Given the description of an element on the screen output the (x, y) to click on. 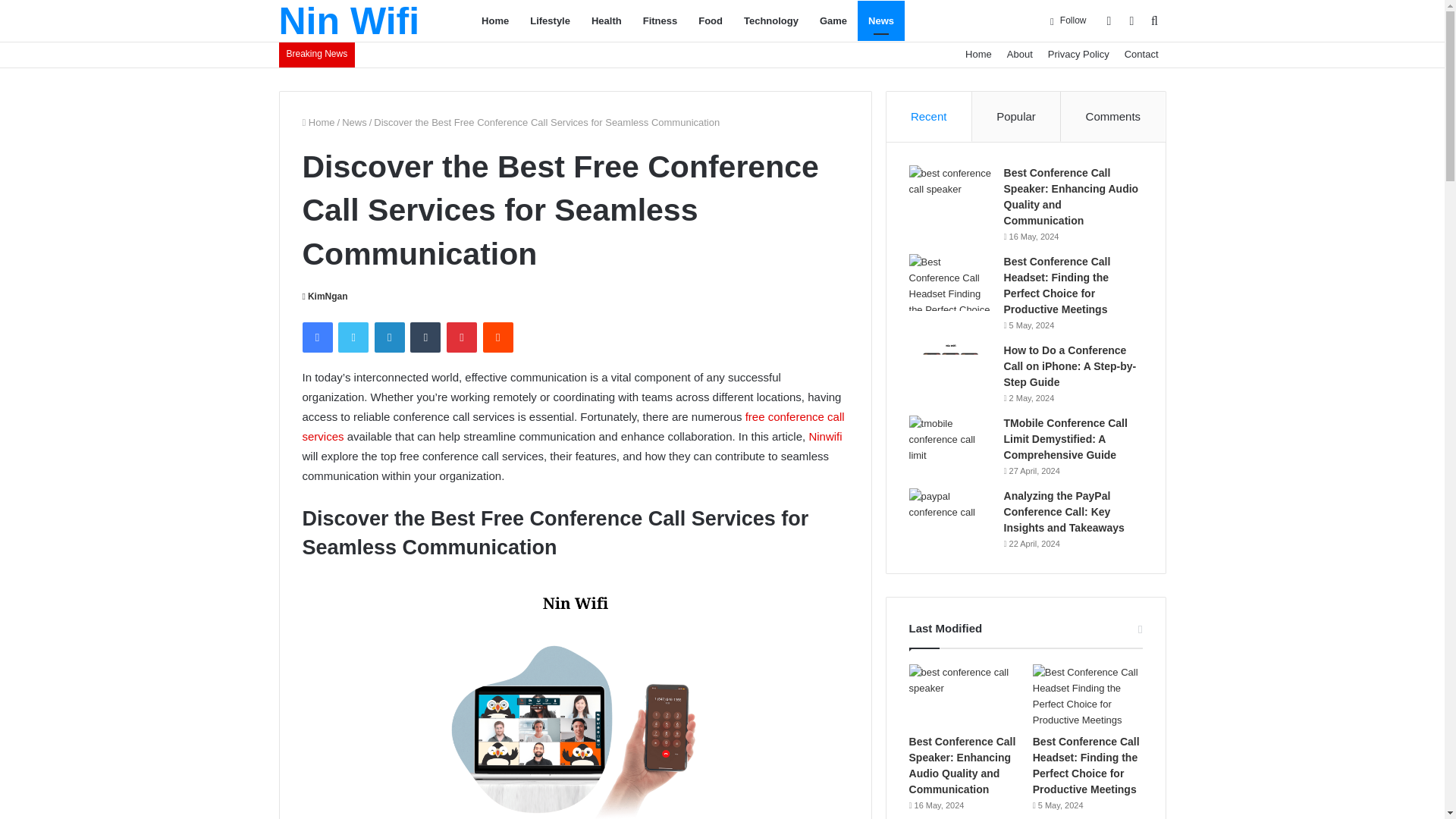
Reddit (498, 337)
Fitness (659, 20)
Lifestyle (549, 20)
Facebook (316, 337)
Nin Wifi (349, 21)
News (880, 20)
News (354, 122)
LinkedIn (389, 337)
Food (710, 20)
Facebook (316, 337)
